Given the description of an element on the screen output the (x, y) to click on. 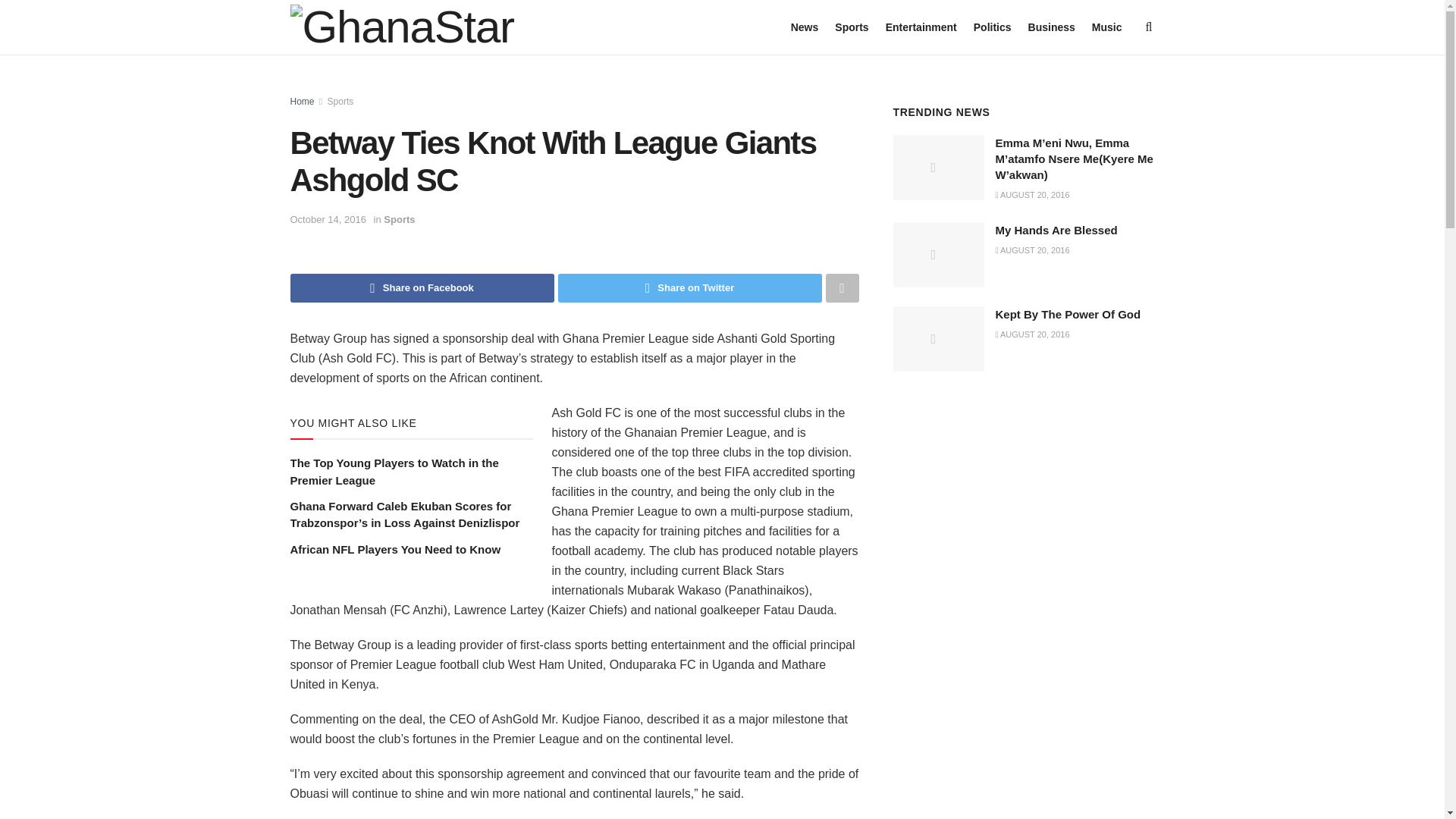
Sports (850, 26)
October 14, 2016 (327, 219)
Music (1107, 26)
Home (301, 101)
The Top Young Players to Watch in the Premier League (393, 471)
Politics (992, 26)
Entertainment (920, 26)
Share on Twitter (689, 287)
News (804, 26)
Business (1051, 26)
